Given the description of an element on the screen output the (x, y) to click on. 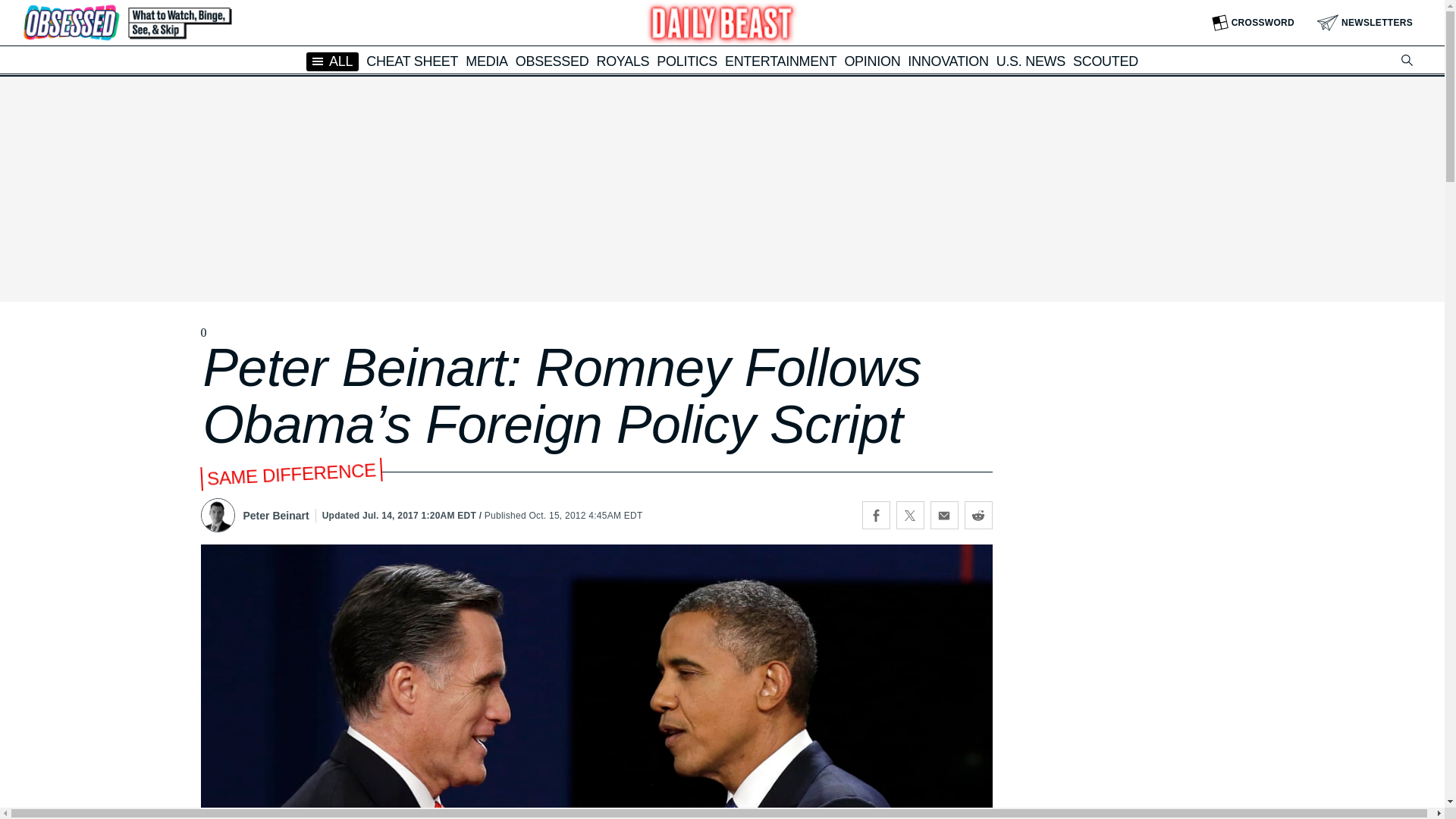
U.S. NEWS (1030, 60)
POLITICS (686, 60)
ENTERTAINMENT (780, 60)
INNOVATION (947, 60)
OBSESSED (552, 60)
SCOUTED (1105, 60)
ALL (331, 60)
CHEAT SHEET (412, 60)
ROYALS (622, 60)
NEWSLETTERS (1364, 22)
